Given the description of an element on the screen output the (x, y) to click on. 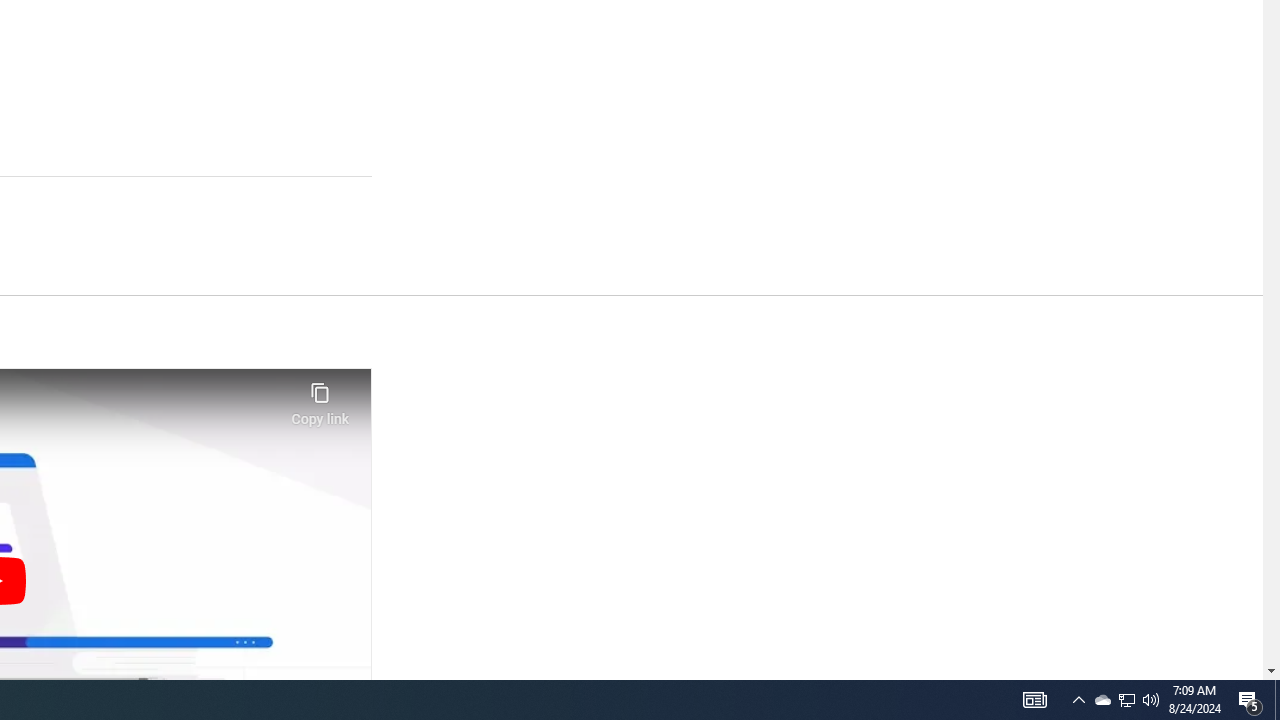
Copy link (319, 398)
